Given the description of an element on the screen output the (x, y) to click on. 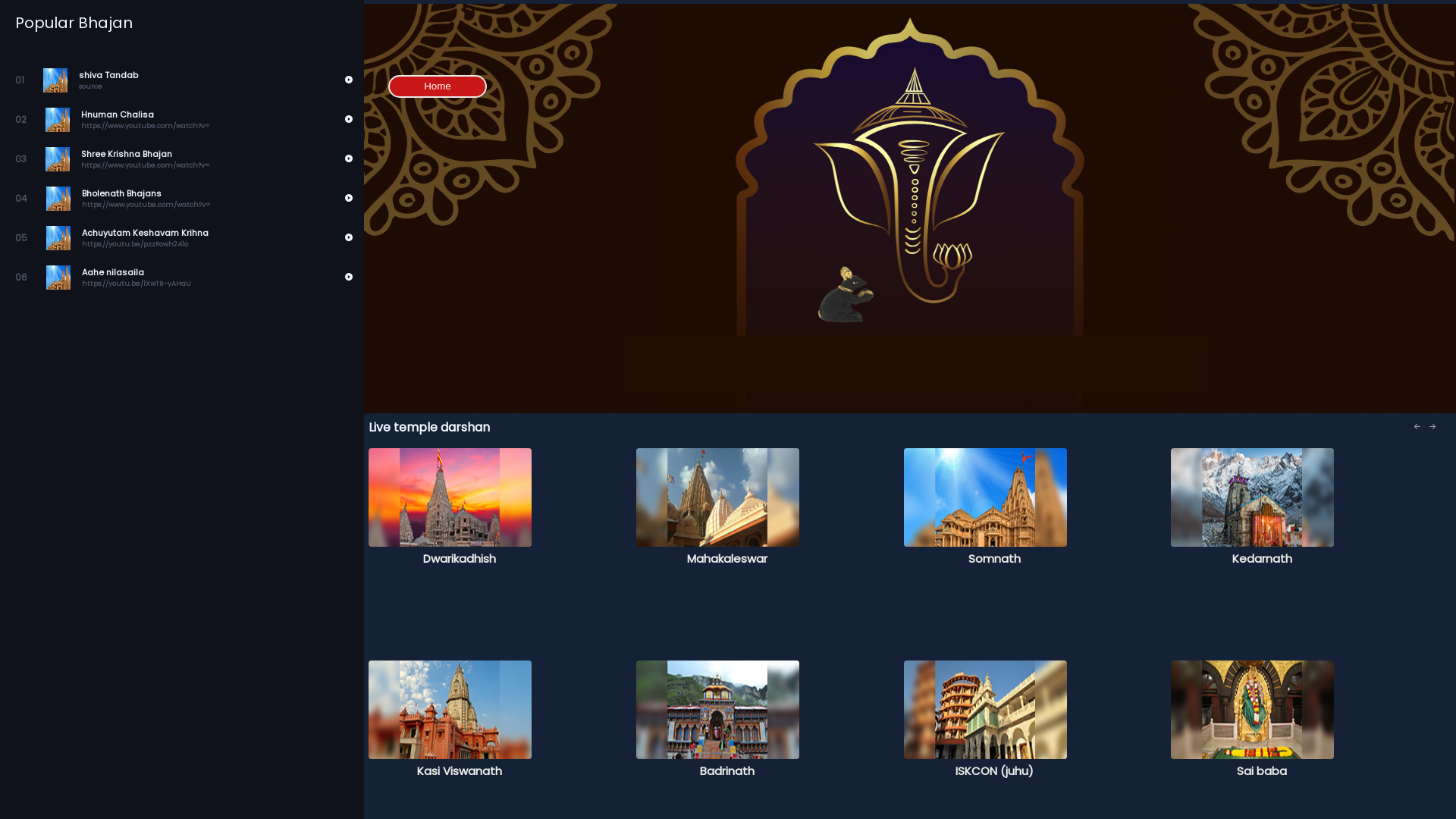
Home Element type: text (437, 85)
Home Element type: text (437, 86)
